Given the description of an element on the screen output the (x, y) to click on. 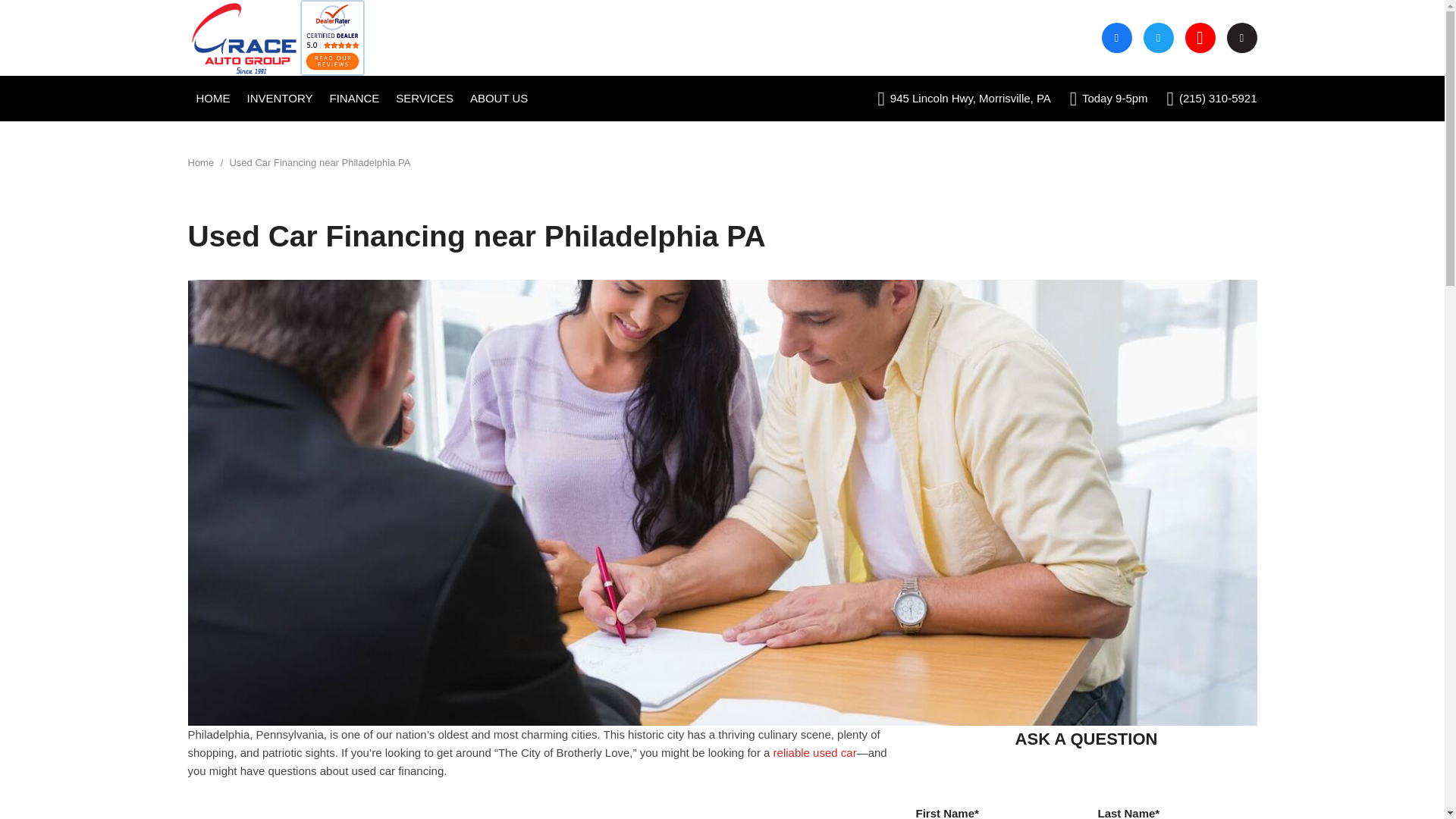
SERVICES (425, 98)
FINANCE (354, 98)
INVENTORY (279, 98)
HOME (212, 98)
Grace Auto Group (244, 38)
